Given the description of an element on the screen output the (x, y) to click on. 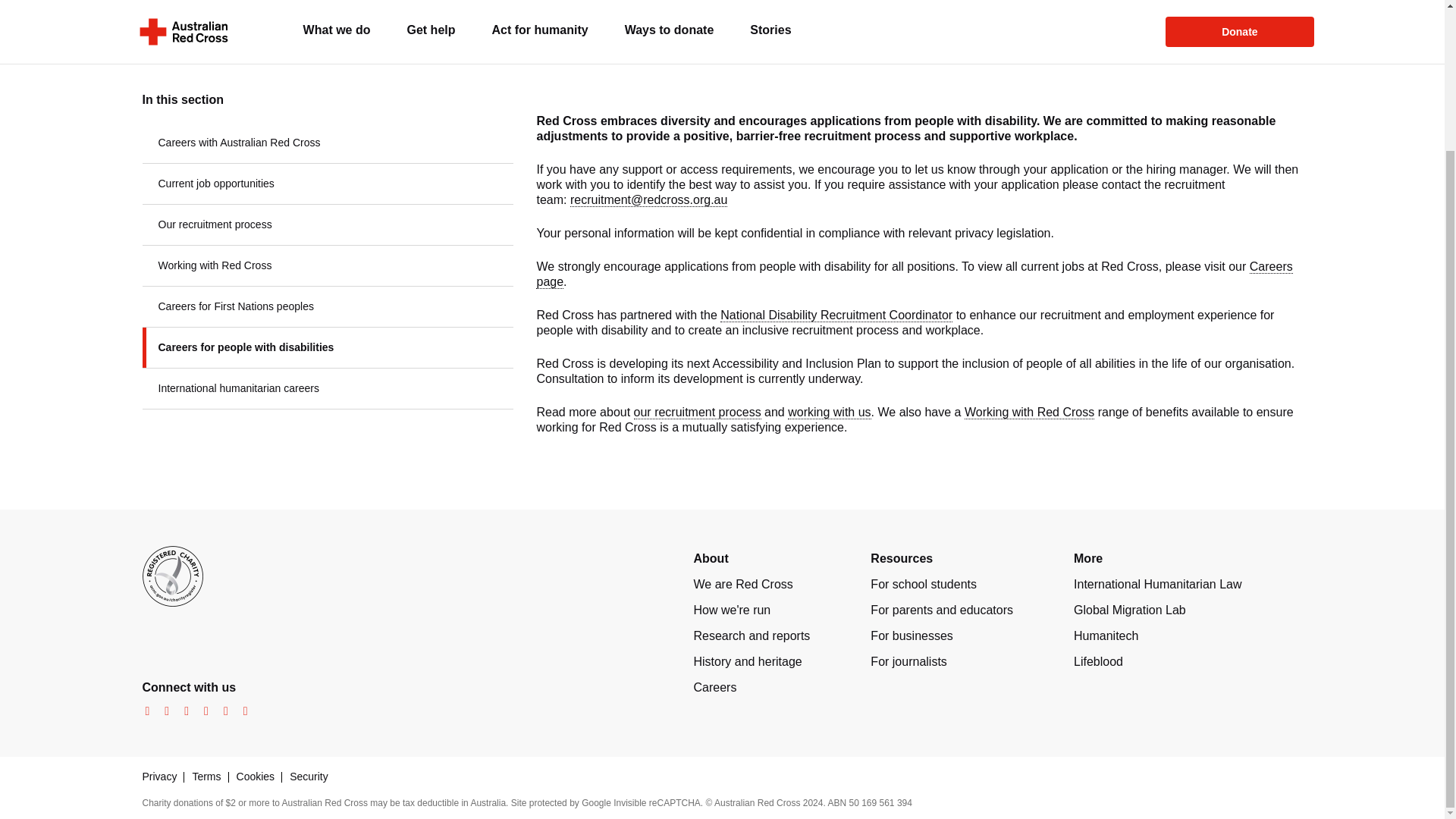
For parents and educators (941, 609)
International Humanitarian Law (1157, 584)
For school students (923, 584)
About (710, 558)
History and heritage (747, 661)
How we're run (731, 609)
youtube (201, 710)
twitter (181, 710)
Research and reports (751, 635)
linkedin (221, 710)
